Given the description of an element on the screen output the (x, y) to click on. 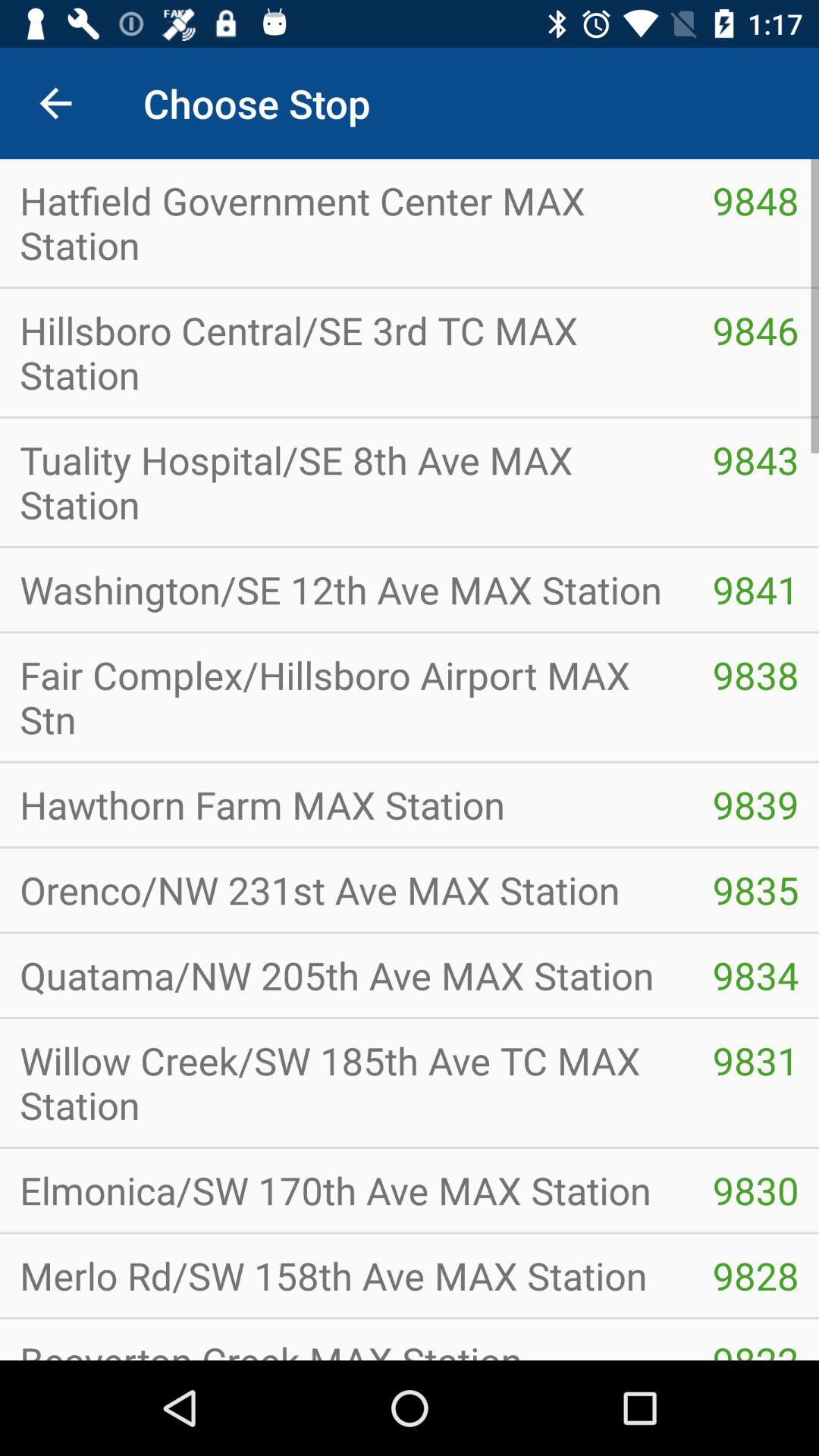
turn off the icon above washington se 12th item (755, 459)
